Given the description of an element on the screen output the (x, y) to click on. 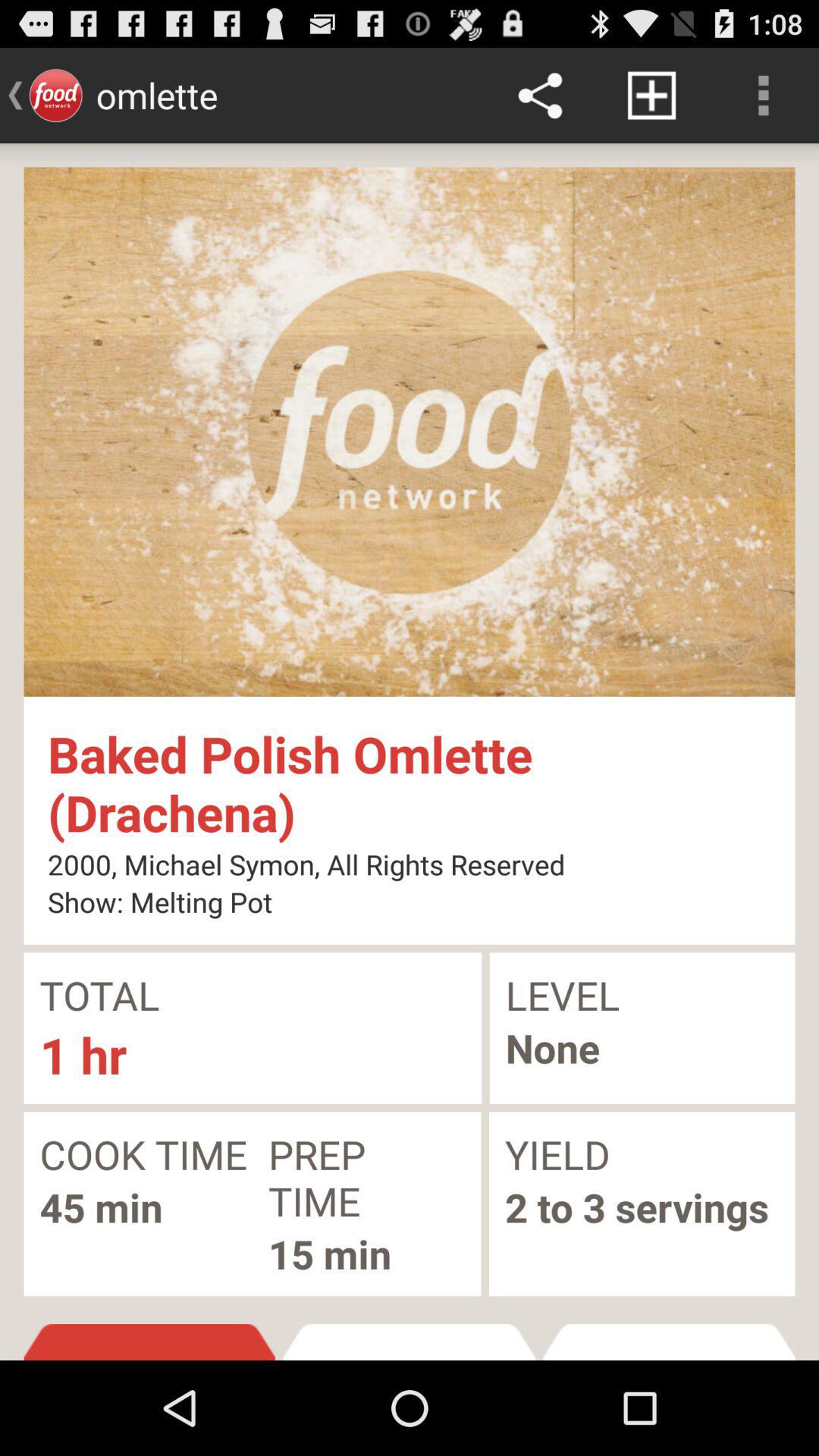
click item to the right of the recipe (669, 1342)
